Given the description of an element on the screen output the (x, y) to click on. 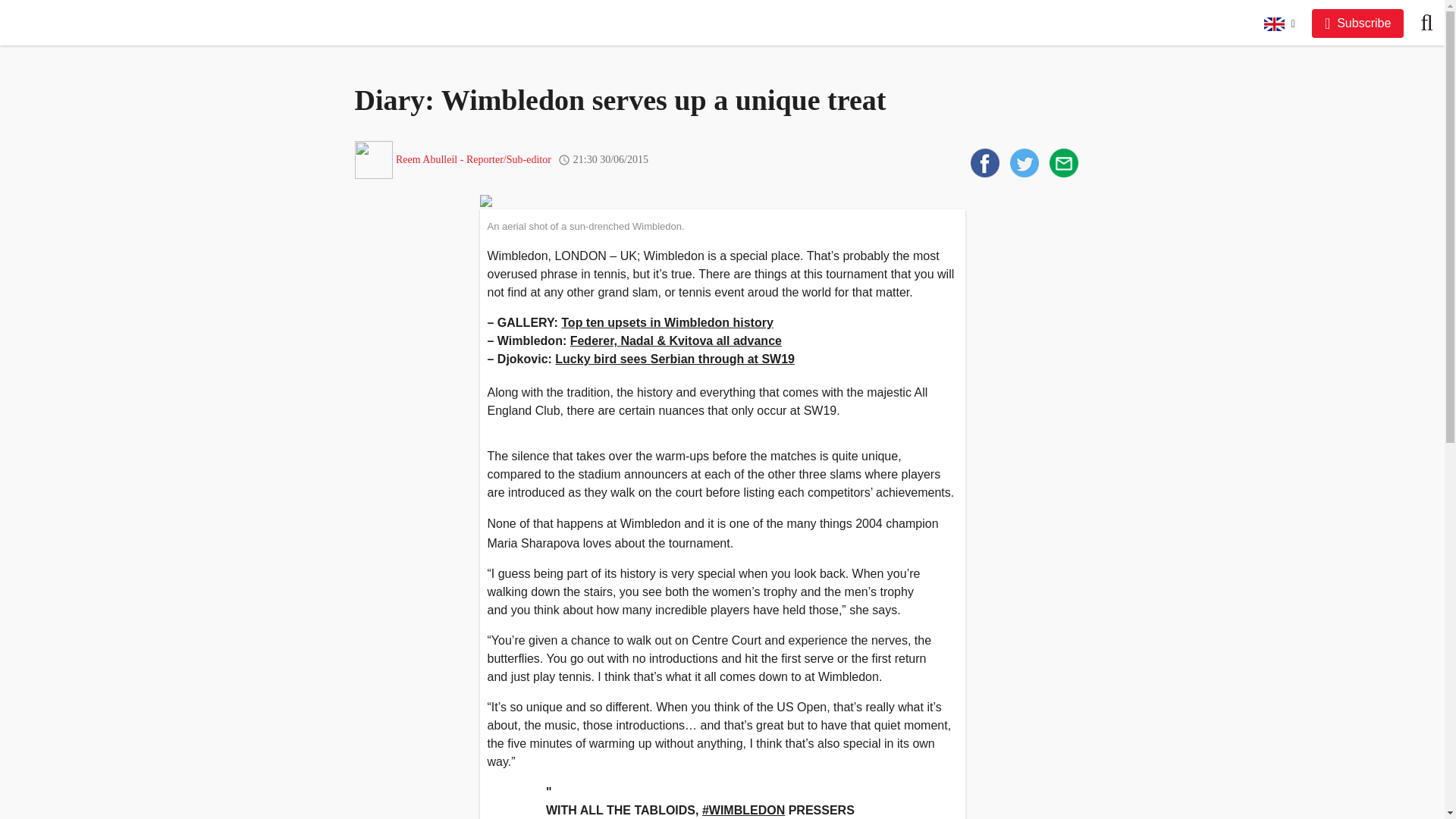
Top ten upsets in Wimbledon history (666, 322)
Facebook (984, 162)
Mail (1063, 162)
subscribe (1357, 23)
Edition (1278, 22)
Lucky bird sees Serbian through at SW19 (674, 358)
Twitter (1024, 162)
 Subscribe (1357, 23)
